Given the description of an element on the screen output the (x, y) to click on. 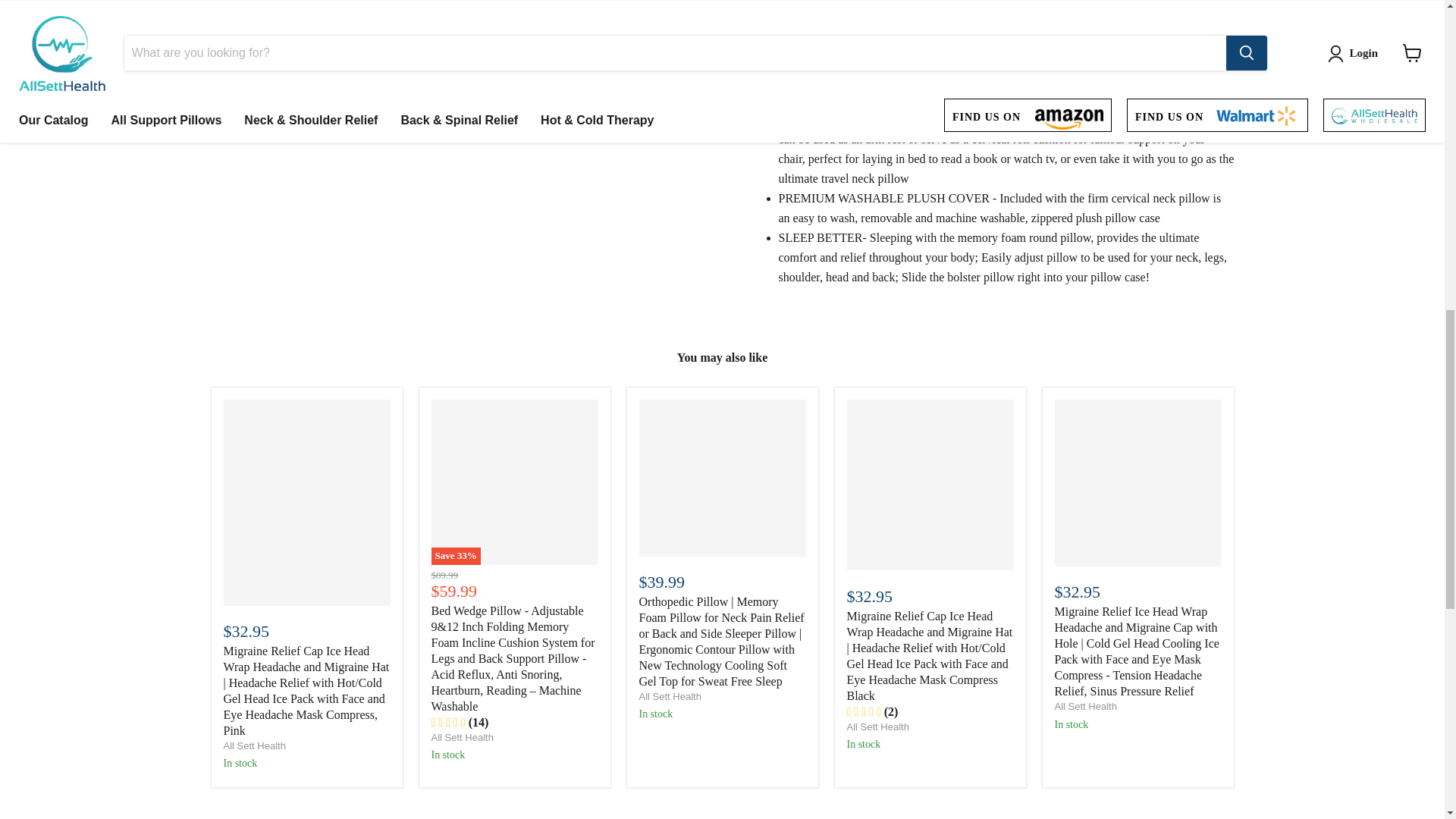
All Sett Health (253, 745)
All Sett Health (461, 737)
All Sett Health (876, 726)
All Sett Health (1085, 706)
All Sett Health (669, 696)
